Given the description of an element on the screen output the (x, y) to click on. 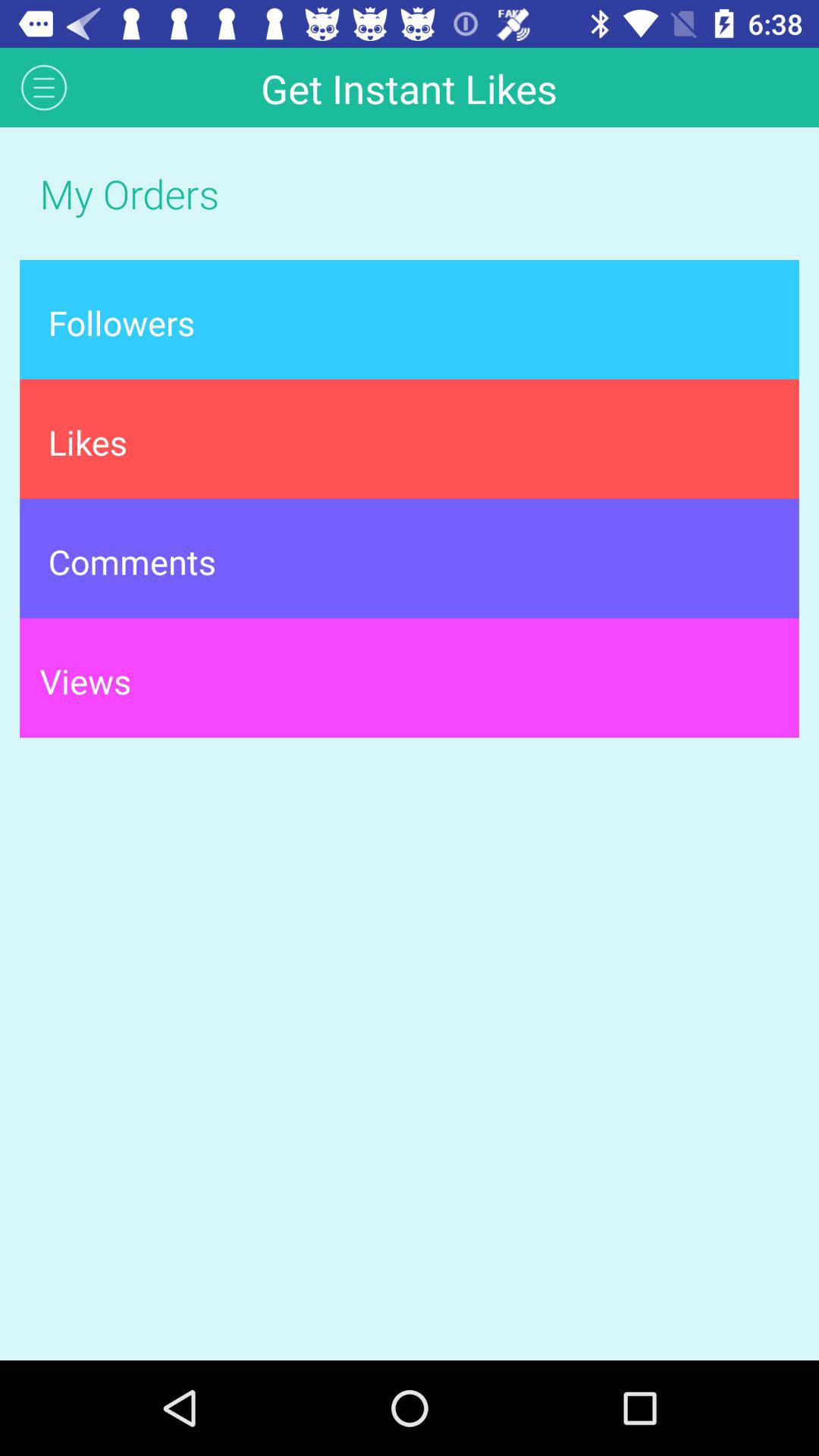
turn on item below the  likes icon (409, 558)
